Given the description of an element on the screen output the (x, y) to click on. 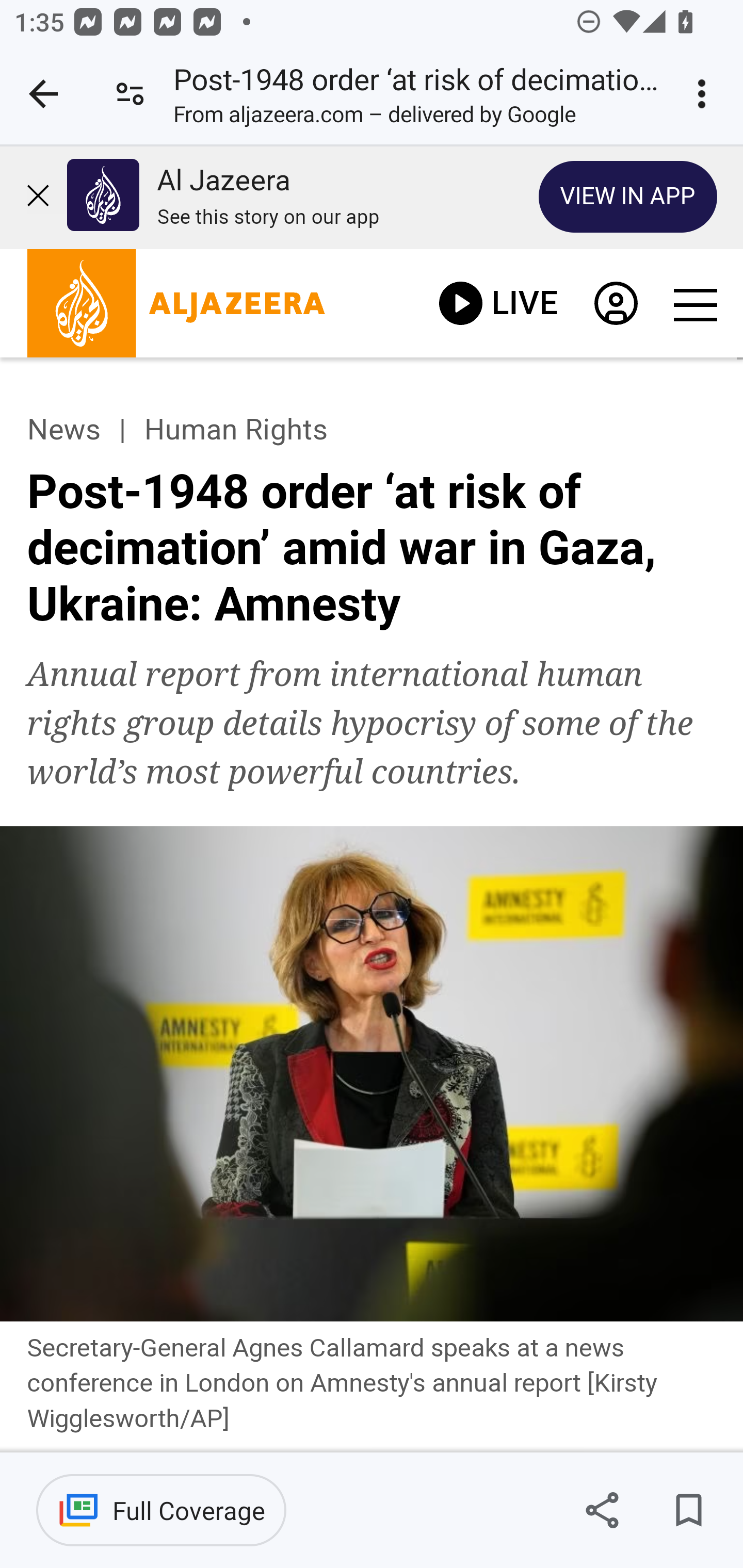
Close tab (43, 93)
Customize and control Google Chrome (705, 93)
Connection is secure (129, 93)
From aljazeera.com – delivered by Google (374, 117)
VIEW IN APP (627, 195)
Close mobile app download banner (46, 196)
www.aljazeera (176, 307)
Link to live stream video player LIVE (498, 303)
Sign in (615, 307)
Open the menu (694, 305)
News (63, 430)
Human Rights (235, 430)
Full Coverage (161, 1509)
Share (601, 1510)
Save for later (688, 1510)
